Given the description of an element on the screen output the (x, y) to click on. 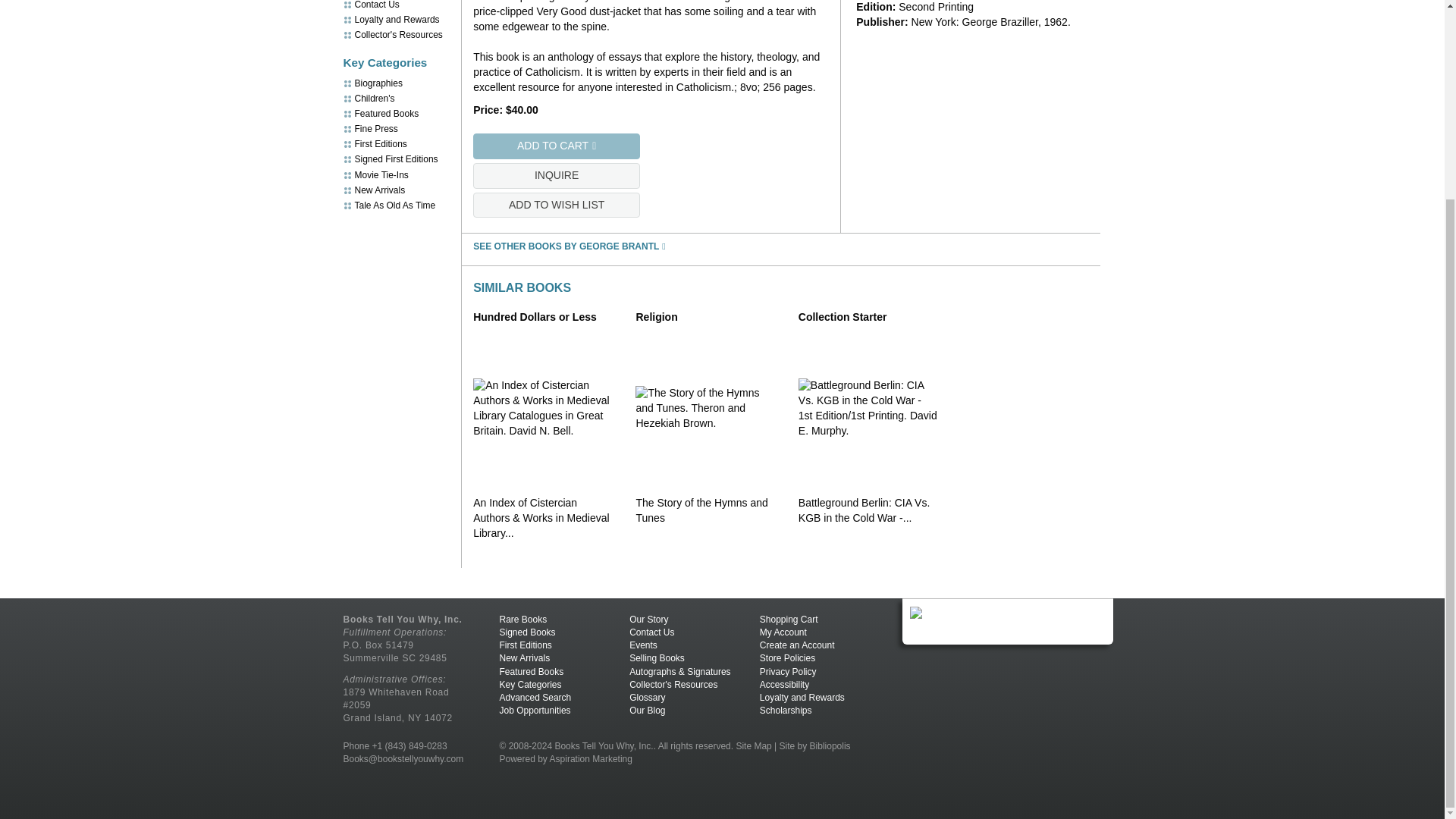
Site by Bibliopolis (814, 746)
